Given the description of an element on the screen output the (x, y) to click on. 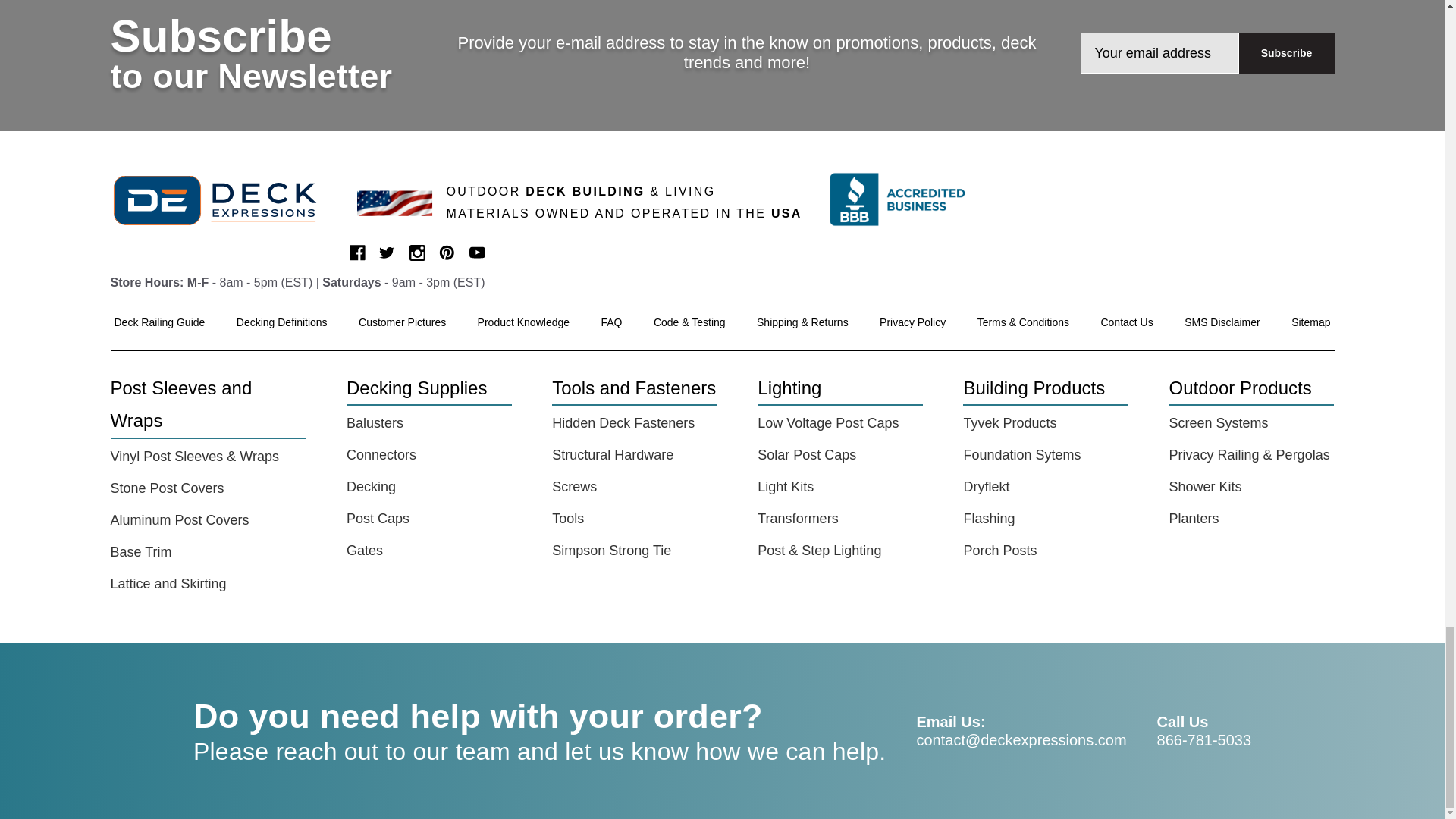
Youtube (476, 252)
Subscribe (1287, 52)
Twitter (386, 252)
Pinterest (446, 252)
Facebook (357, 252)
Deck Expressions (223, 200)
Instagram (417, 252)
